Given the description of an element on the screen output the (x, y) to click on. 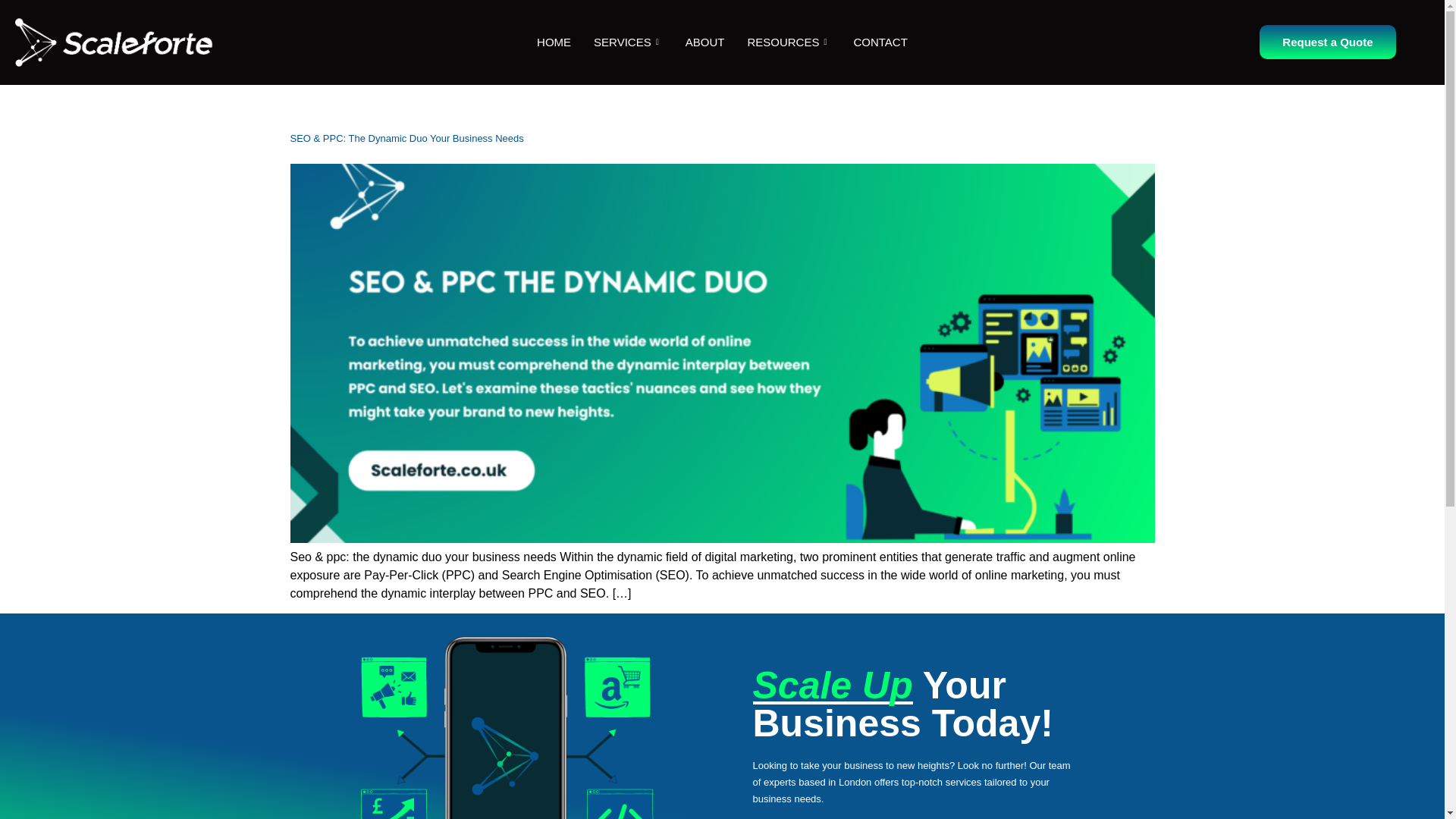
HOME (553, 42)
SERVICES (628, 42)
